Given the description of an element on the screen output the (x, y) to click on. 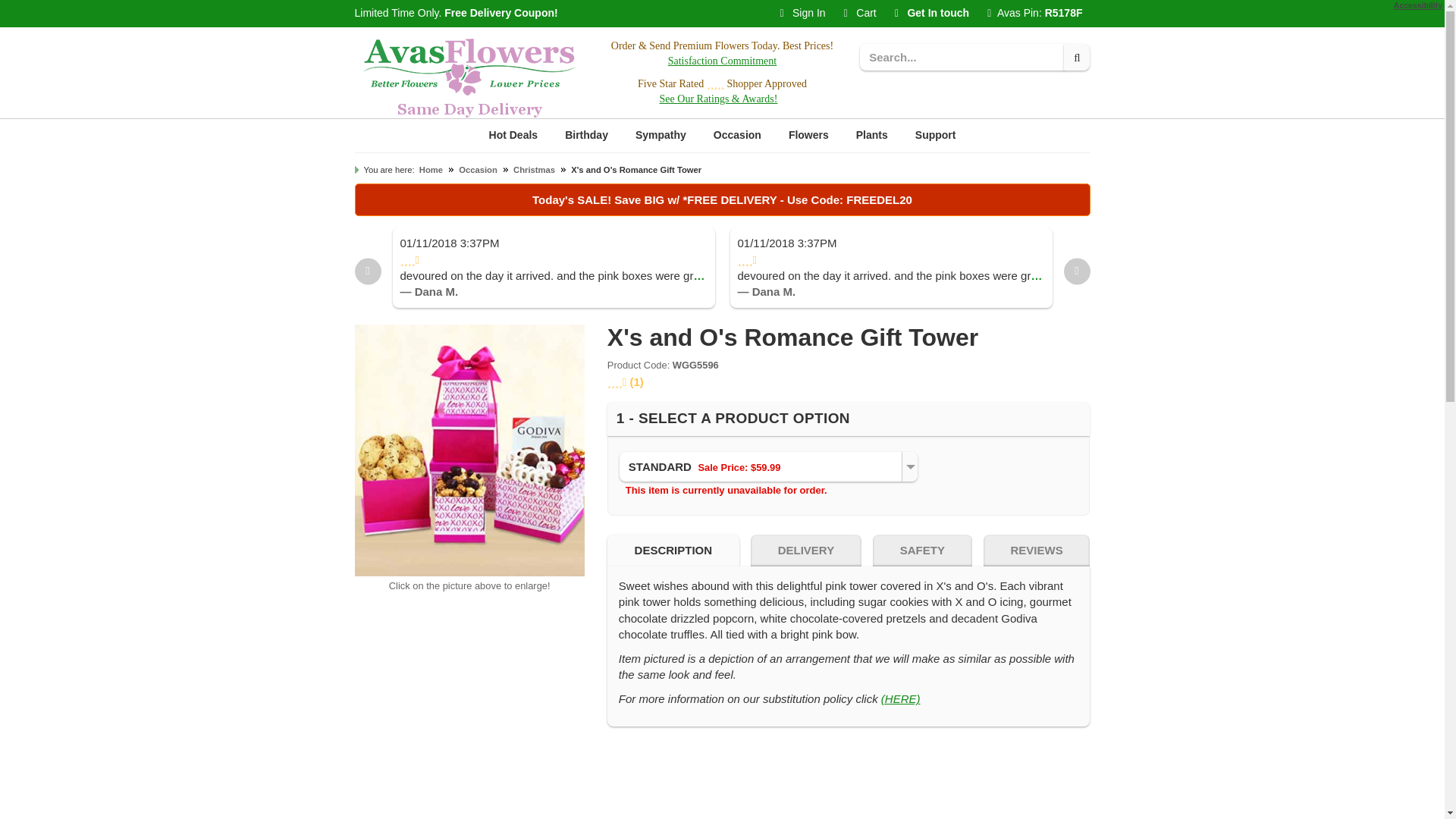
Satisfaction Commitment (722, 60)
Sympathy (660, 135)
Sign In (801, 13)
Hot Deals (513, 135)
X's and O's Romance Gift Tower (470, 450)
Birthday (586, 135)
Checkout (859, 13)
Occasion (737, 135)
